Given the description of an element on the screen output the (x, y) to click on. 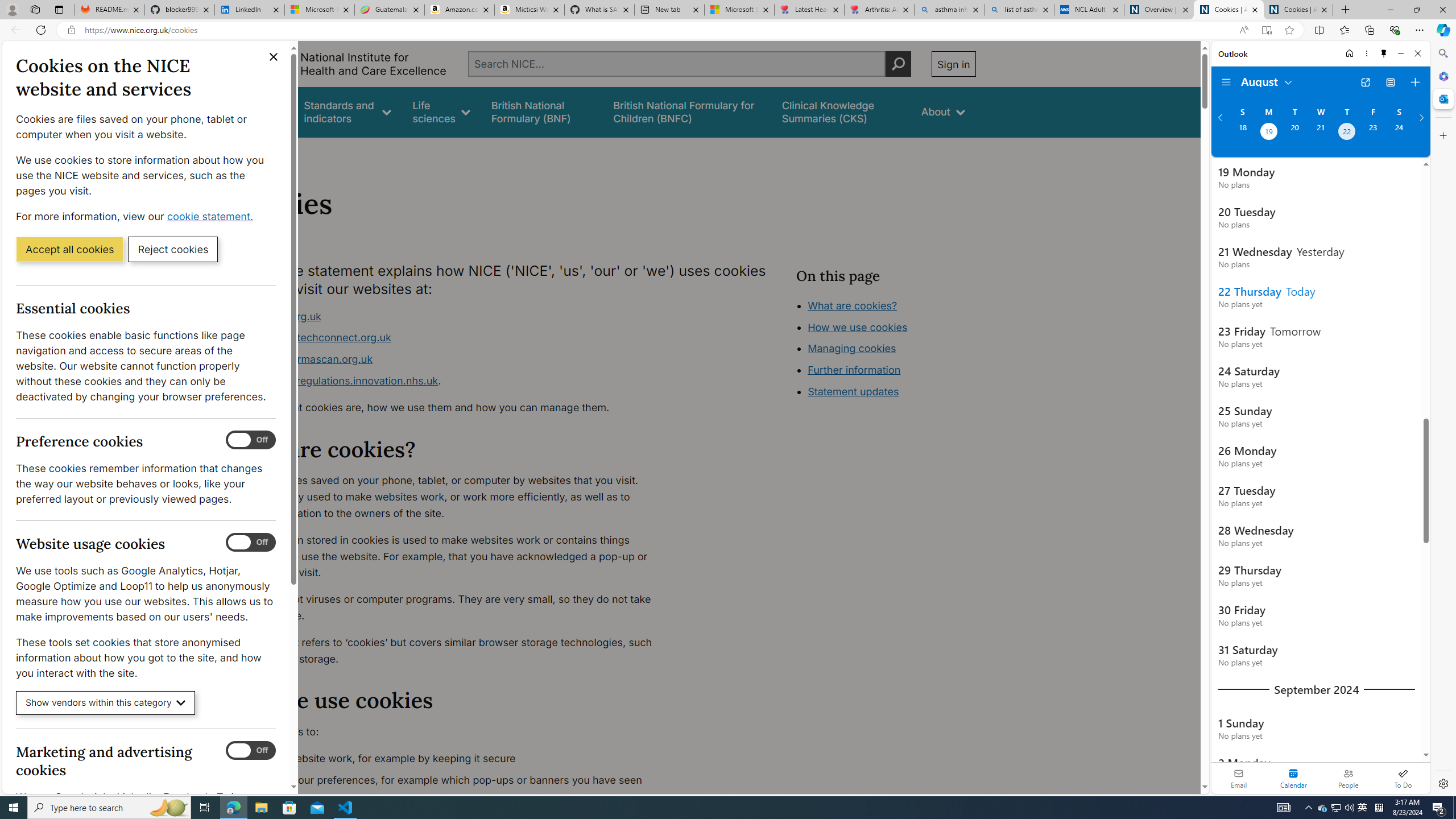
What are cookies? (852, 305)
